Given the description of an element on the screen output the (x, y) to click on. 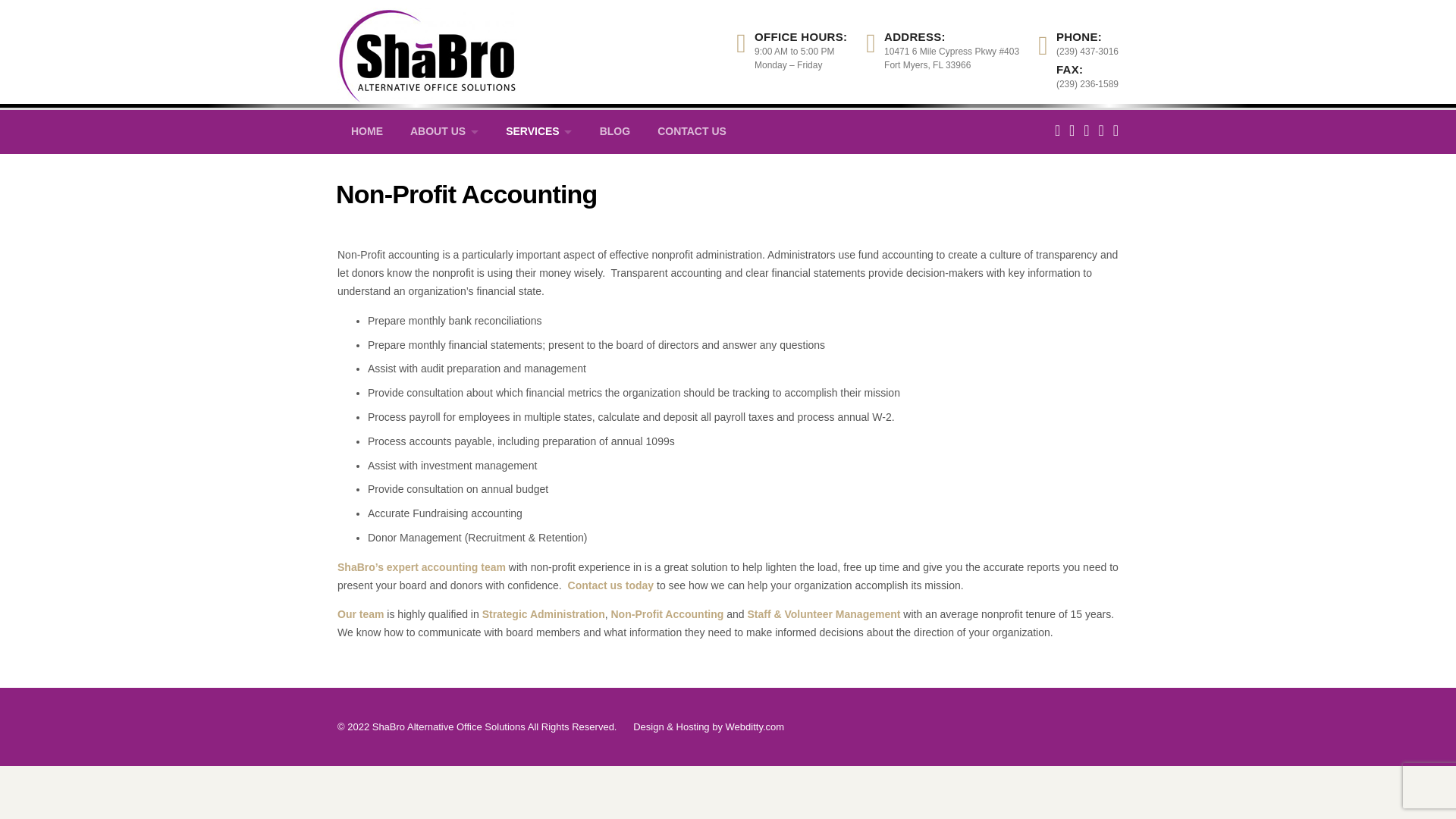
CONTACT US (691, 131)
BLOG (614, 131)
Contact us today (610, 585)
ABOUT US (444, 131)
HOME (366, 131)
ShaBro Alternative Office Solutions (426, 50)
SERVICES (539, 131)
Non-Profit Accounting (667, 613)
Our team (360, 613)
Strategic Administration (543, 613)
